Given the description of an element on the screen output the (x, y) to click on. 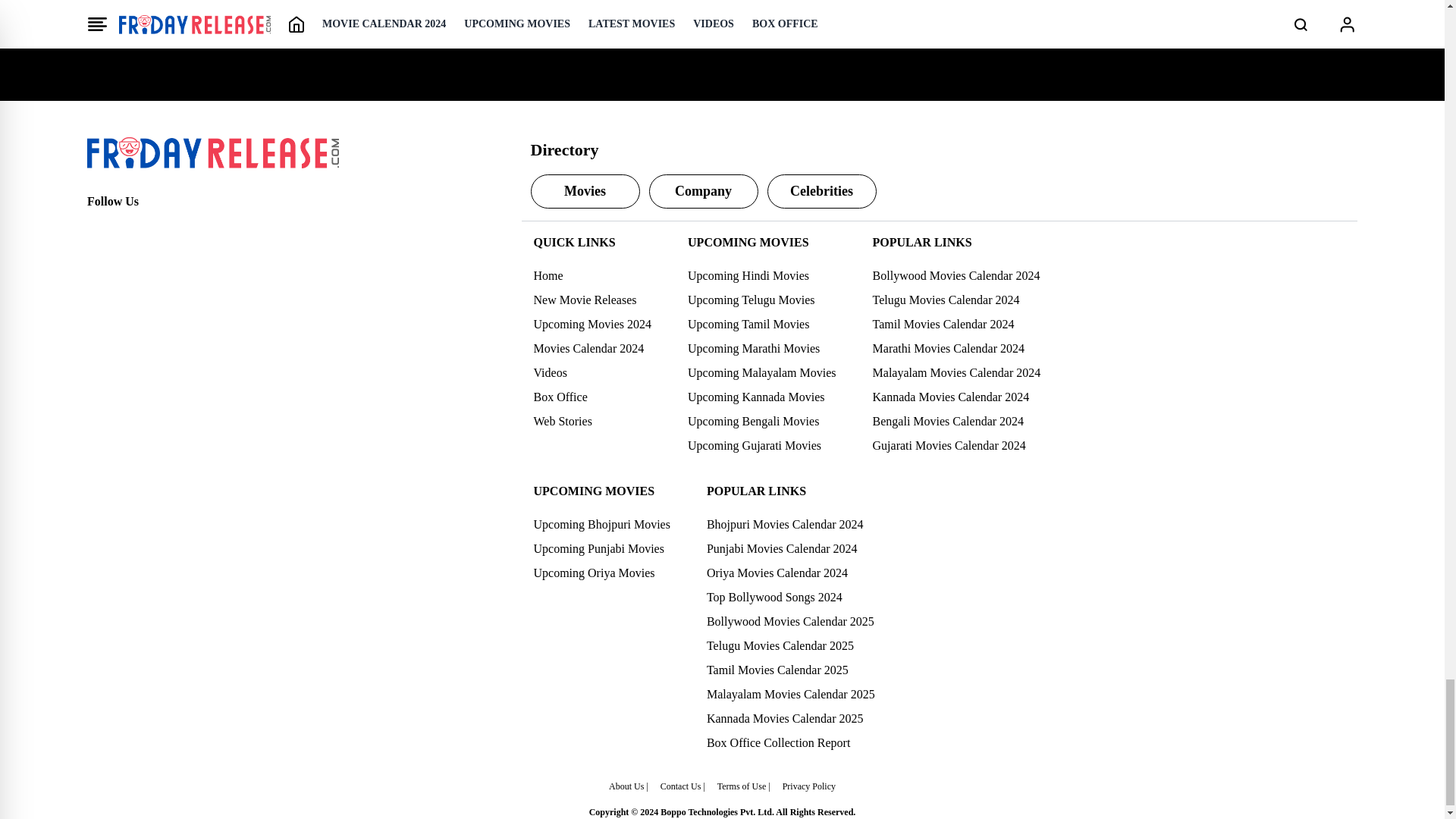
Instagram Page (165, 228)
Twitter Page (132, 228)
Facebook Page (99, 228)
Youtube Page (199, 228)
